Given the description of an element on the screen output the (x, y) to click on. 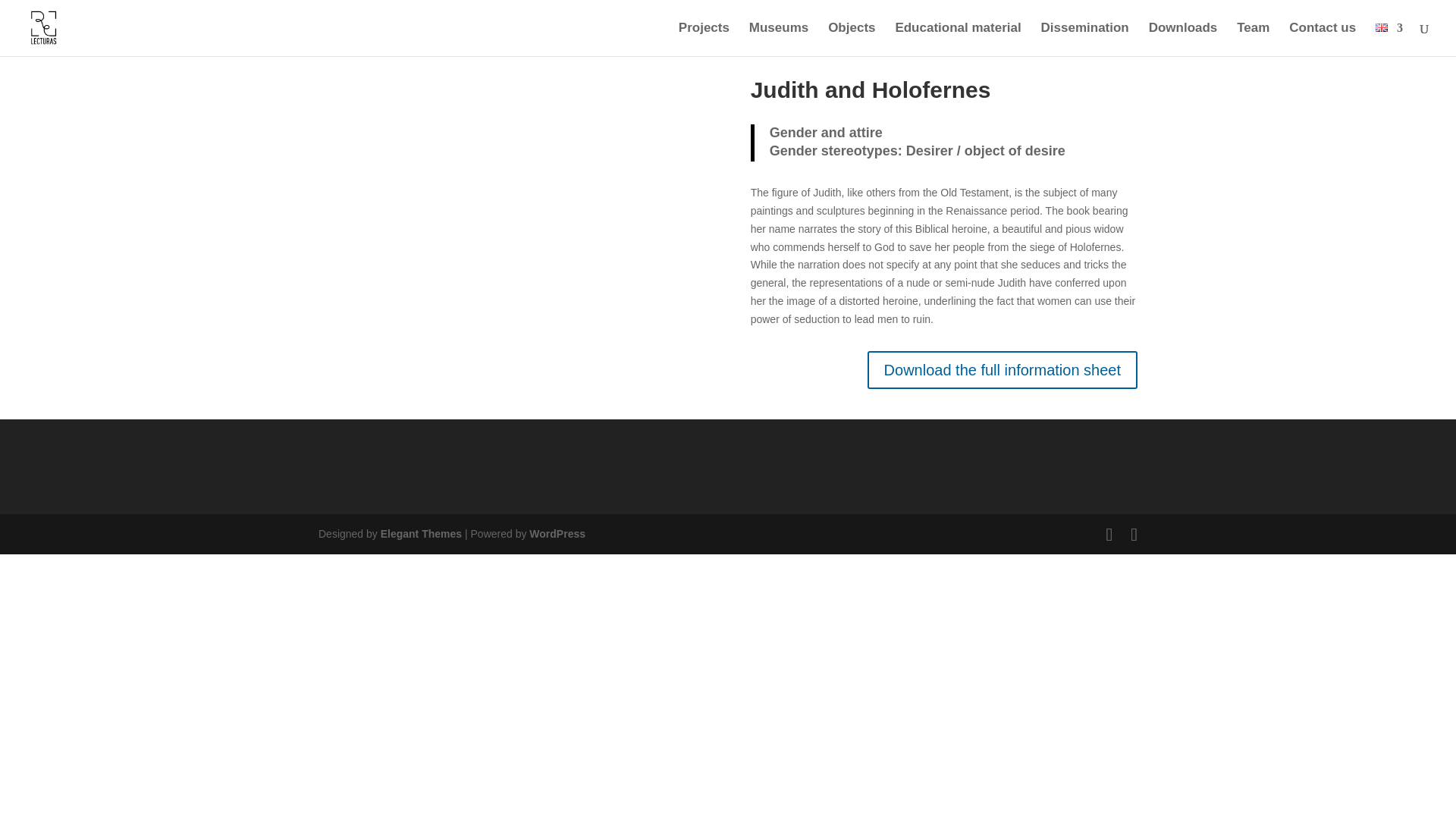
English (1381, 27)
Team (1252, 39)
Downloads (1182, 39)
Projects (703, 39)
Premium WordPress Themes (420, 533)
Contact us (1321, 39)
Educational material (957, 39)
Download the full information sheet (1002, 370)
Dissemination (1085, 39)
Objects (851, 39)
Elegant Themes (420, 533)
WordPress (557, 533)
Museums (778, 39)
